Given the description of an element on the screen output the (x, y) to click on. 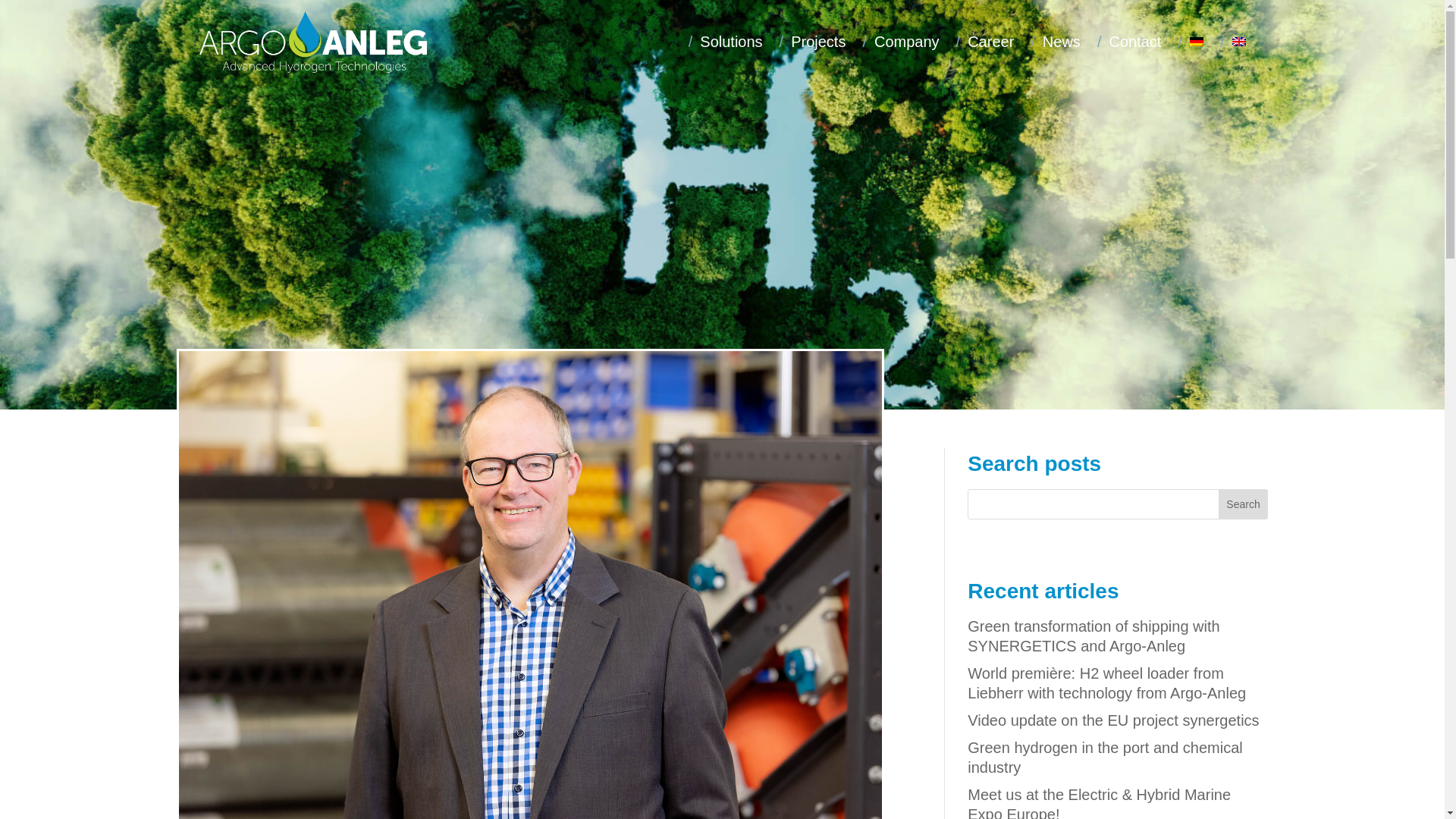
Contact (1129, 41)
Company (900, 41)
Career (985, 41)
Projects (811, 41)
Solutions (725, 41)
Search (1243, 503)
